Given the description of an element on the screen output the (x, y) to click on. 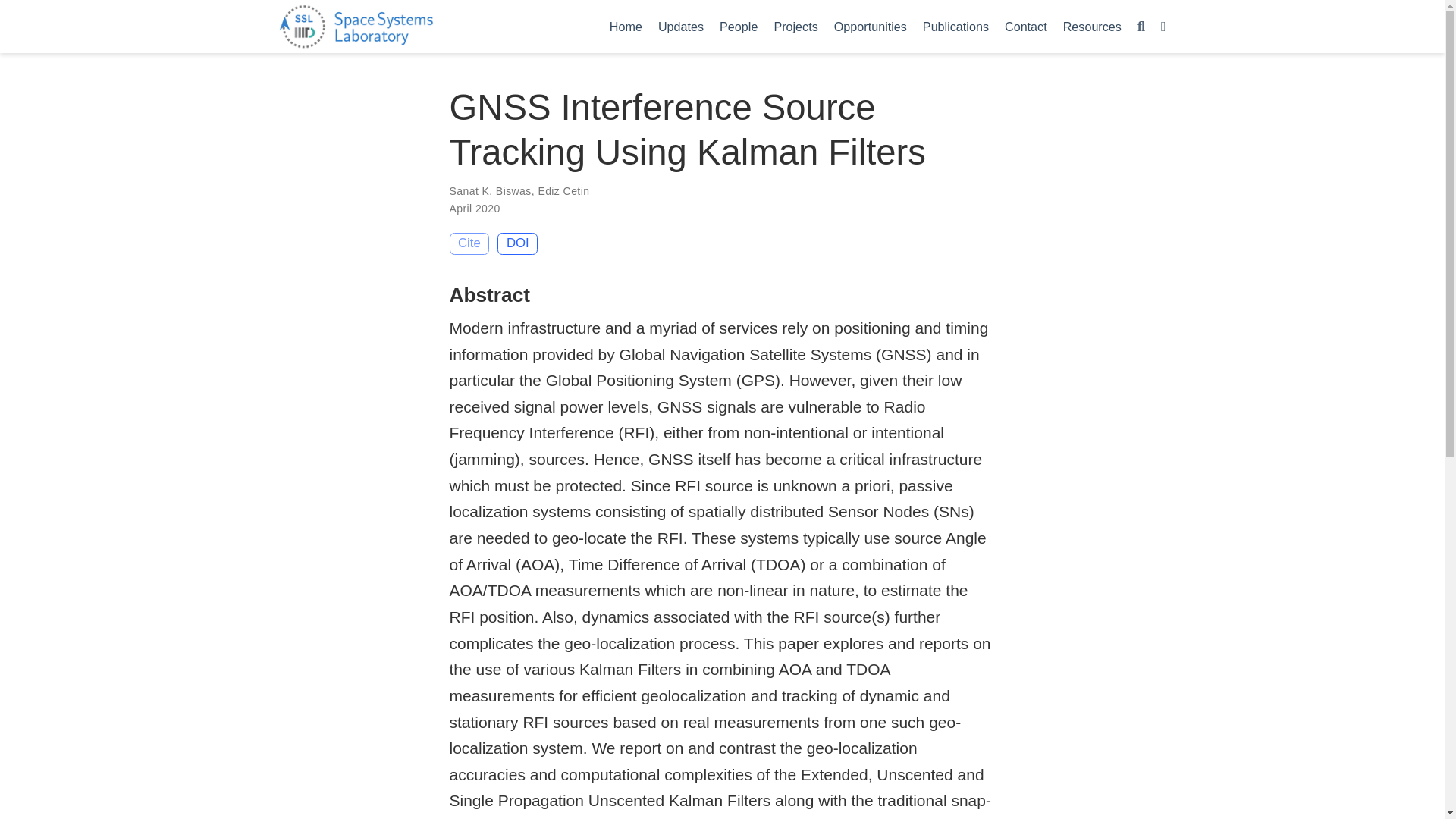
Sanat K. Biswas (489, 191)
Contact (1024, 25)
DOI (517, 243)
Cite (468, 243)
Resources (1091, 25)
Publications (954, 25)
Ediz Cetin (563, 191)
Updates (680, 25)
Opportunities (869, 25)
Home (625, 25)
Projects (795, 25)
People (738, 25)
